Given the description of an element on the screen output the (x, y) to click on. 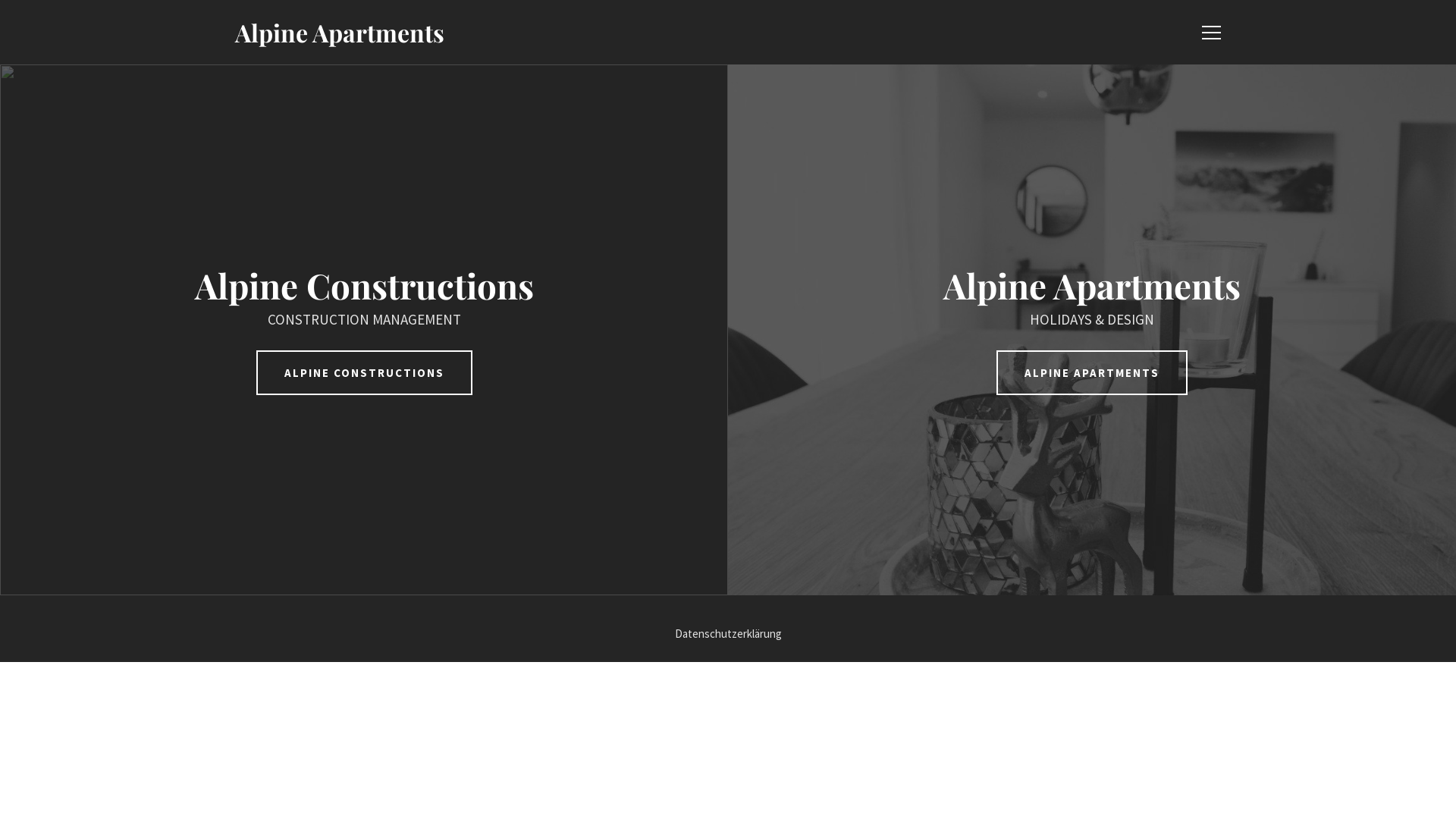
ALPINE APARTMENTS Element type: text (1091, 372)
ALPINE CONSTRUCTIONS Element type: text (364, 372)
Alpine Apartments Element type: text (339, 31)
